Given the description of an element on the screen output the (x, y) to click on. 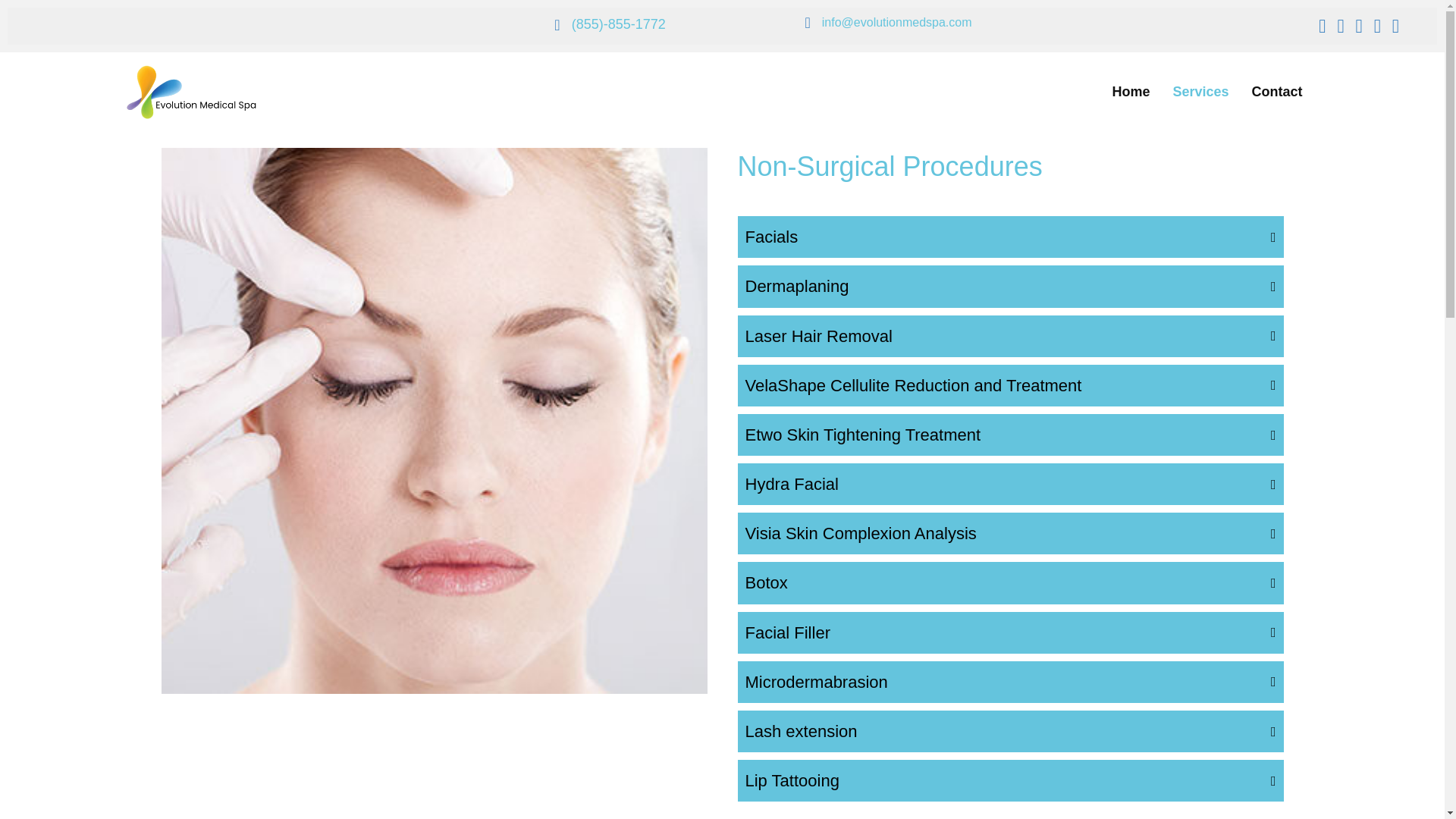
Home (1130, 91)
Contact (1277, 91)
Services (1200, 91)
